Given the description of an element on the screen output the (x, y) to click on. 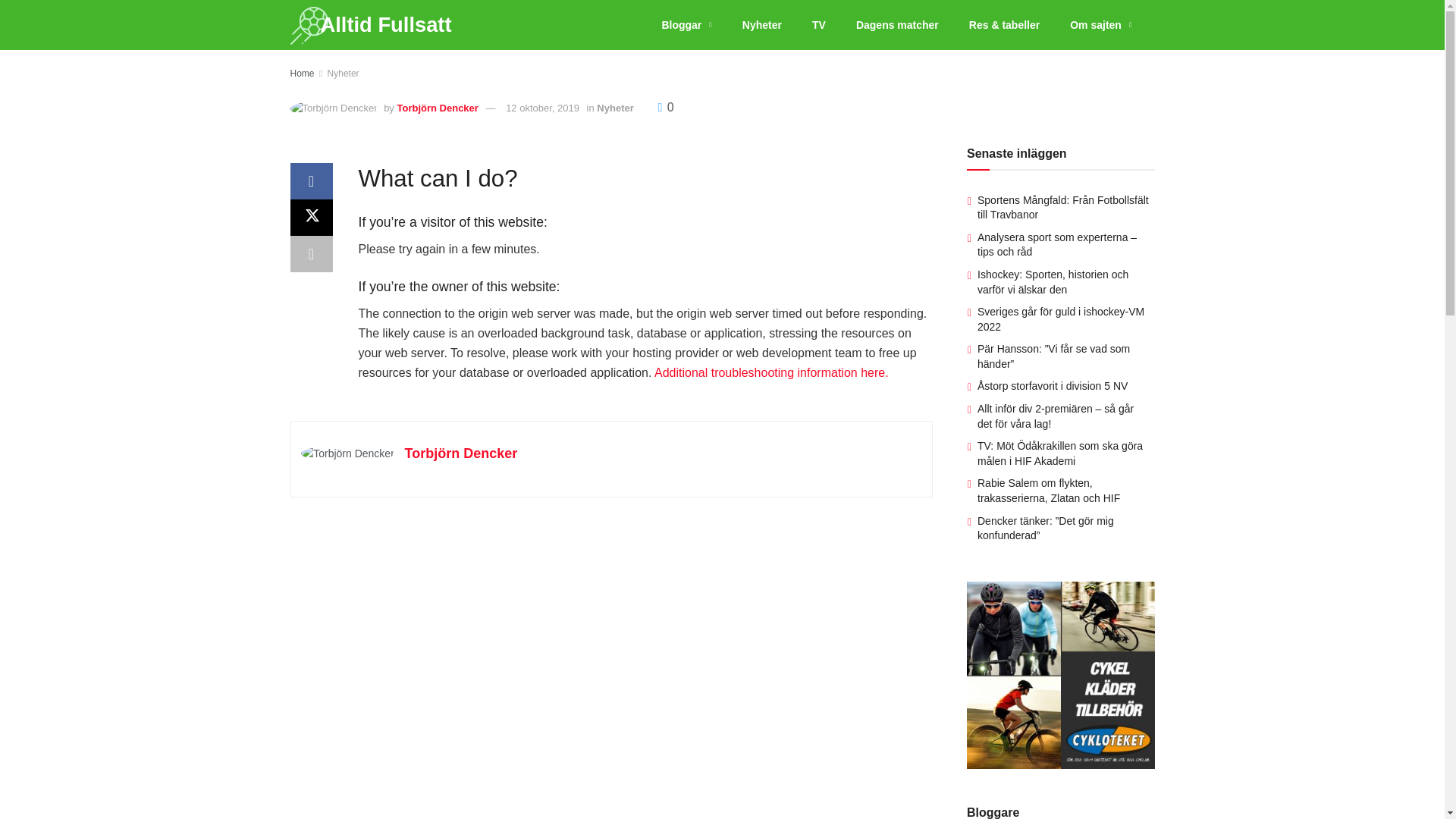
TV (818, 24)
Nyheter (761, 24)
Om sajten (1100, 24)
Dagens matcher (897, 24)
Alltid Fullsatt (385, 24)
Bloggar (686, 24)
